Given the description of an element on the screen output the (x, y) to click on. 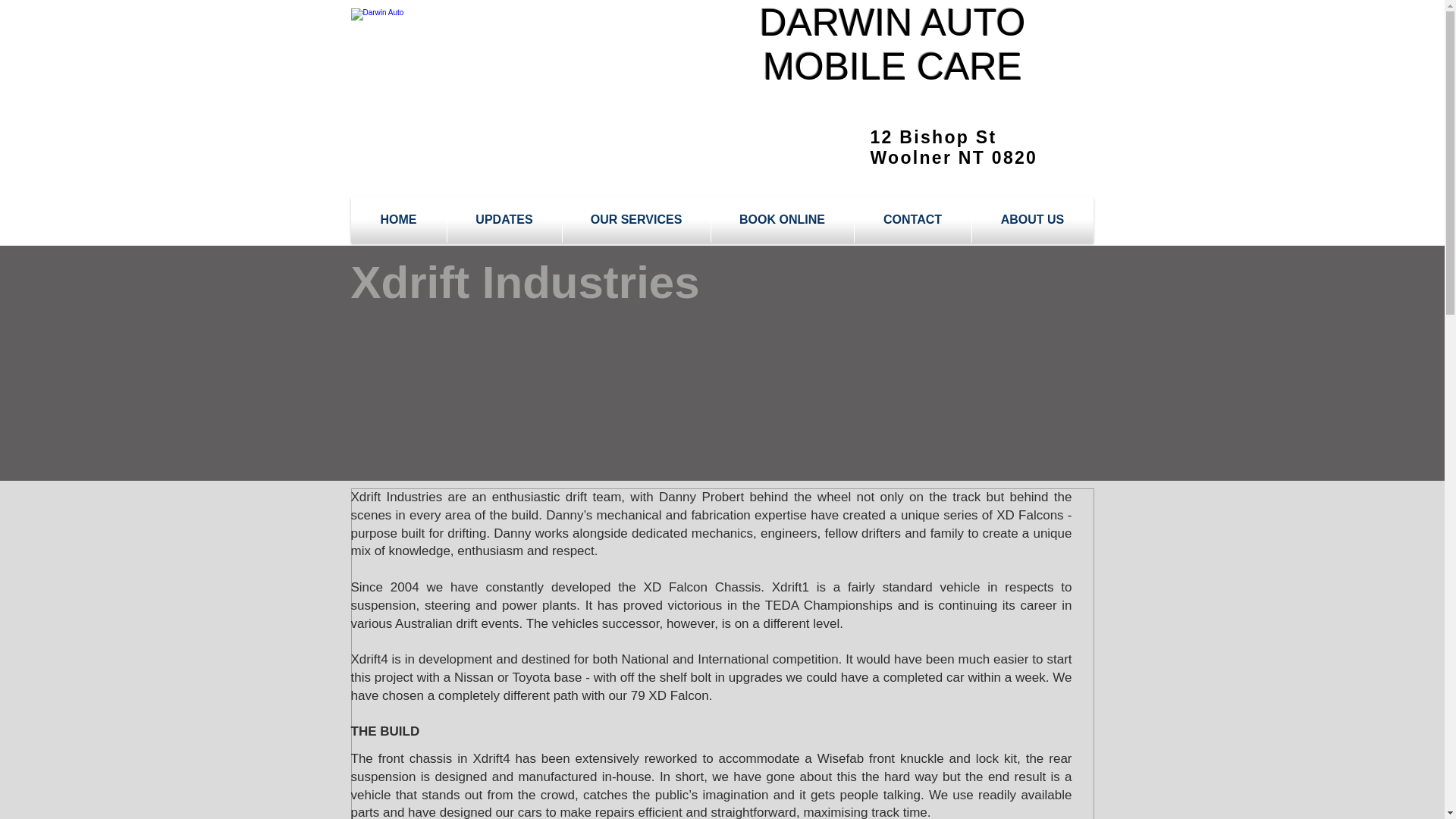
Darwin Mechanic (496, 67)
CONTACT (912, 219)
UPDATES (504, 219)
ABOUT US (1032, 219)
OUR SERVICES (636, 219)
BOOK ONLINE (782, 219)
HOME (397, 219)
DARWIN AUTO MOBILE CARE (893, 44)
